Given the description of an element on the screen output the (x, y) to click on. 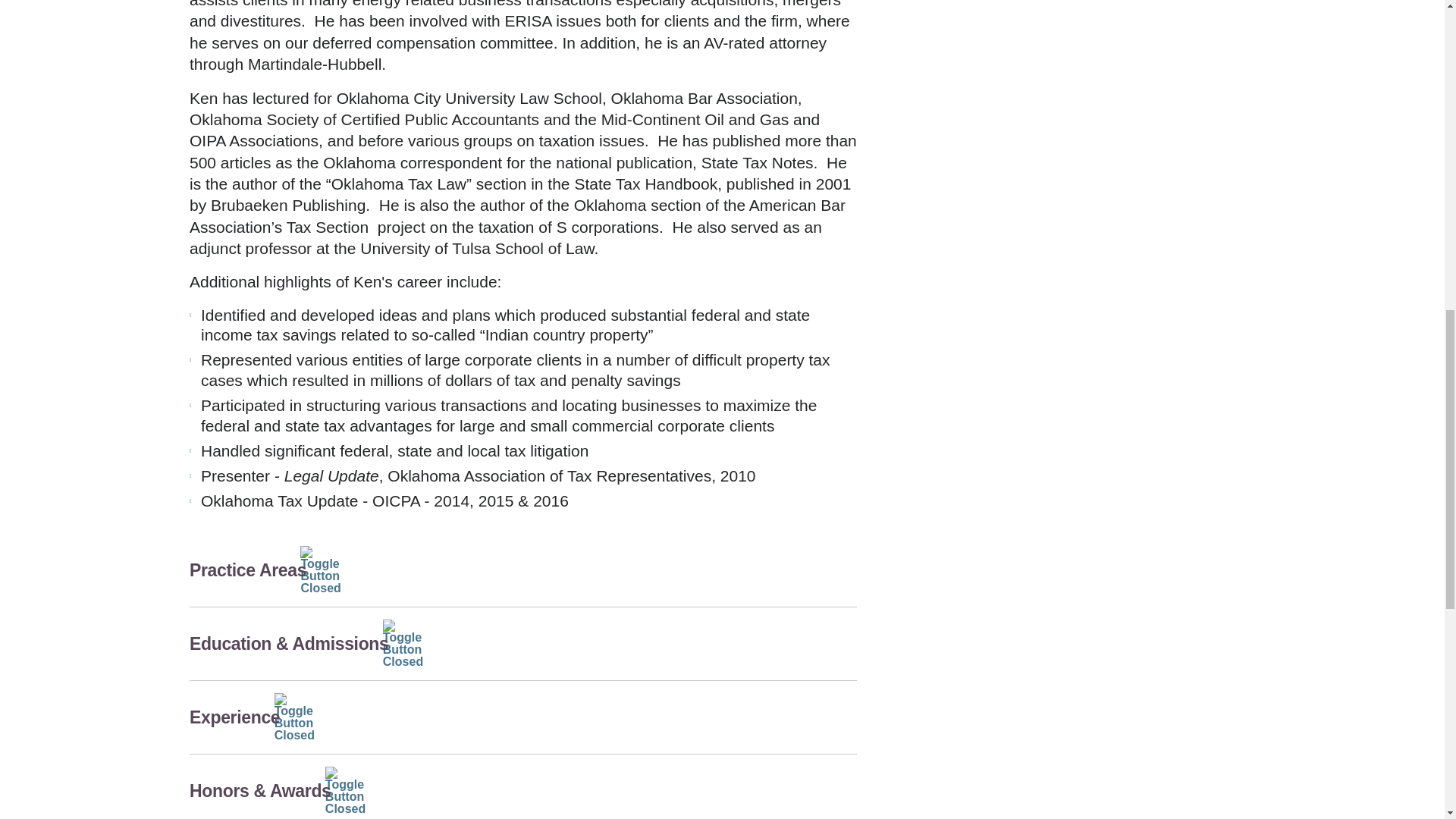
Practice Areas (523, 570)
